Given the description of an element on the screen output the (x, y) to click on. 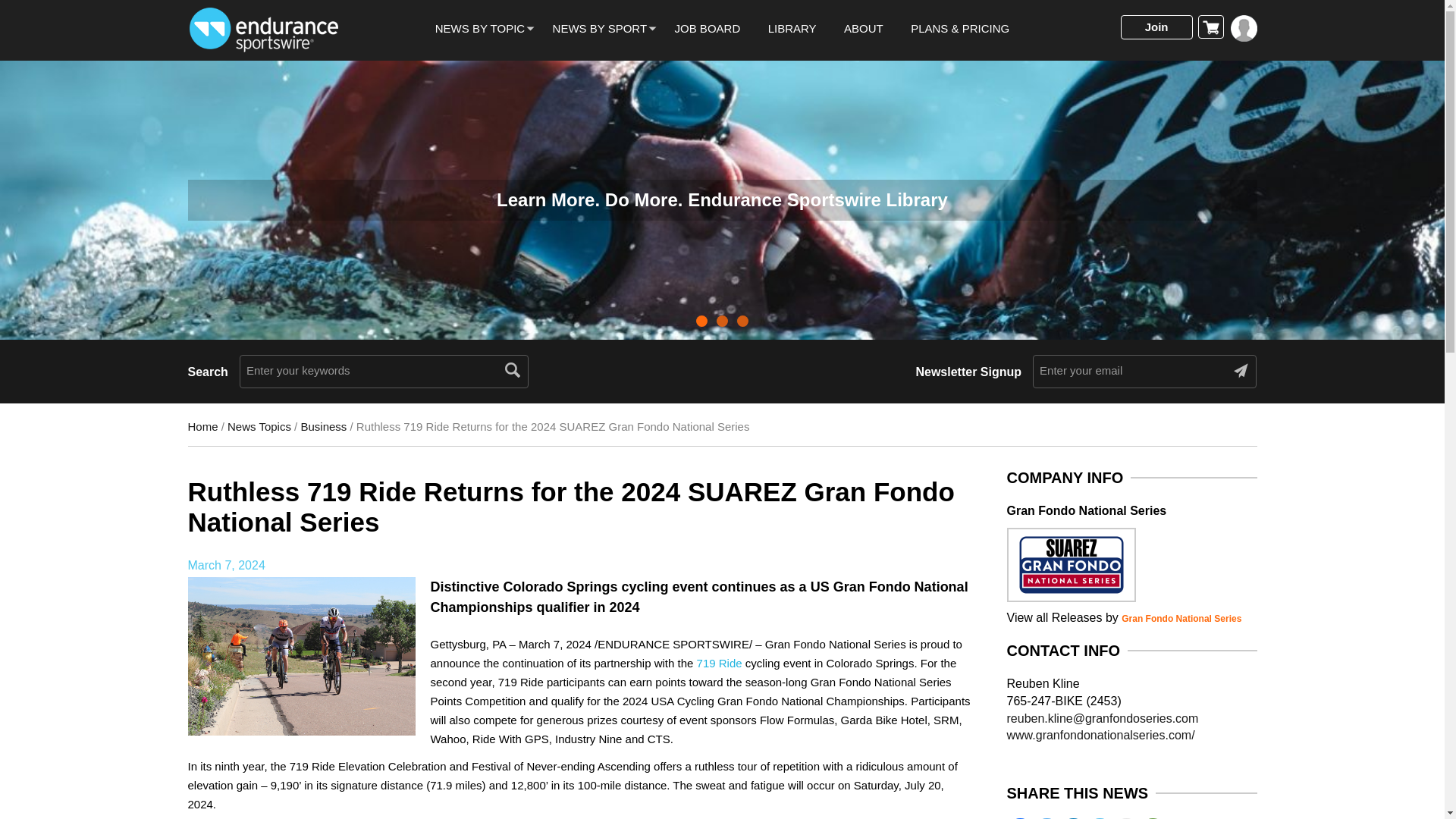
JOB BOARD (708, 28)
NEWS BY SPORT (599, 28)
Posts by Gran Fondo National Series (1181, 618)
Join (1156, 27)
NEWS BY TOPIC (479, 28)
ABOUT (863, 28)
LIBRARY (792, 28)
